Given the description of an element on the screen output the (x, y) to click on. 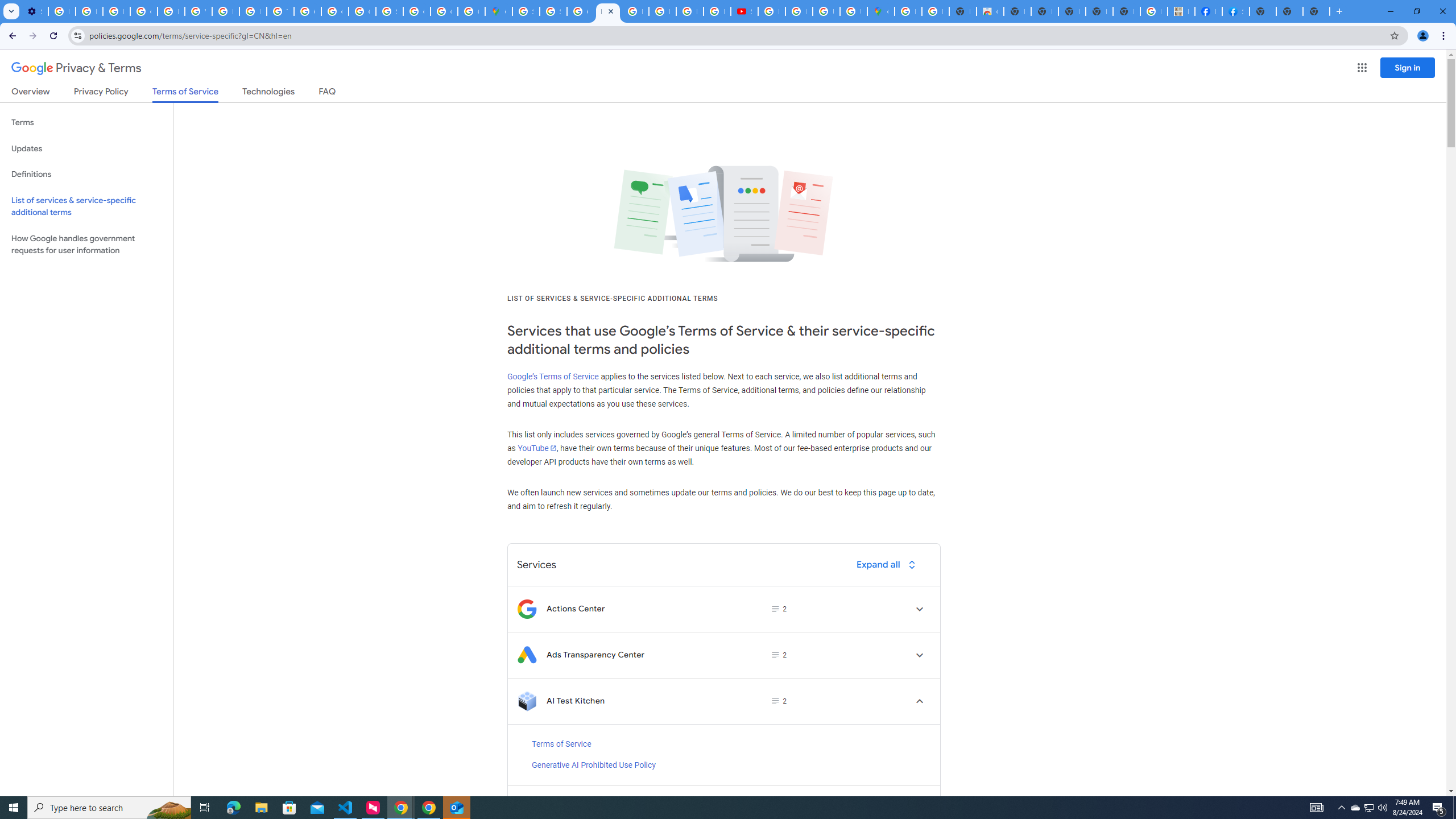
Generative AI Prohibited Use Policy (593, 765)
YouTube (197, 11)
Google Maps (880, 11)
Chrome Web Store (990, 11)
Logo for Actions Center (526, 608)
